Given the description of an element on the screen output the (x, y) to click on. 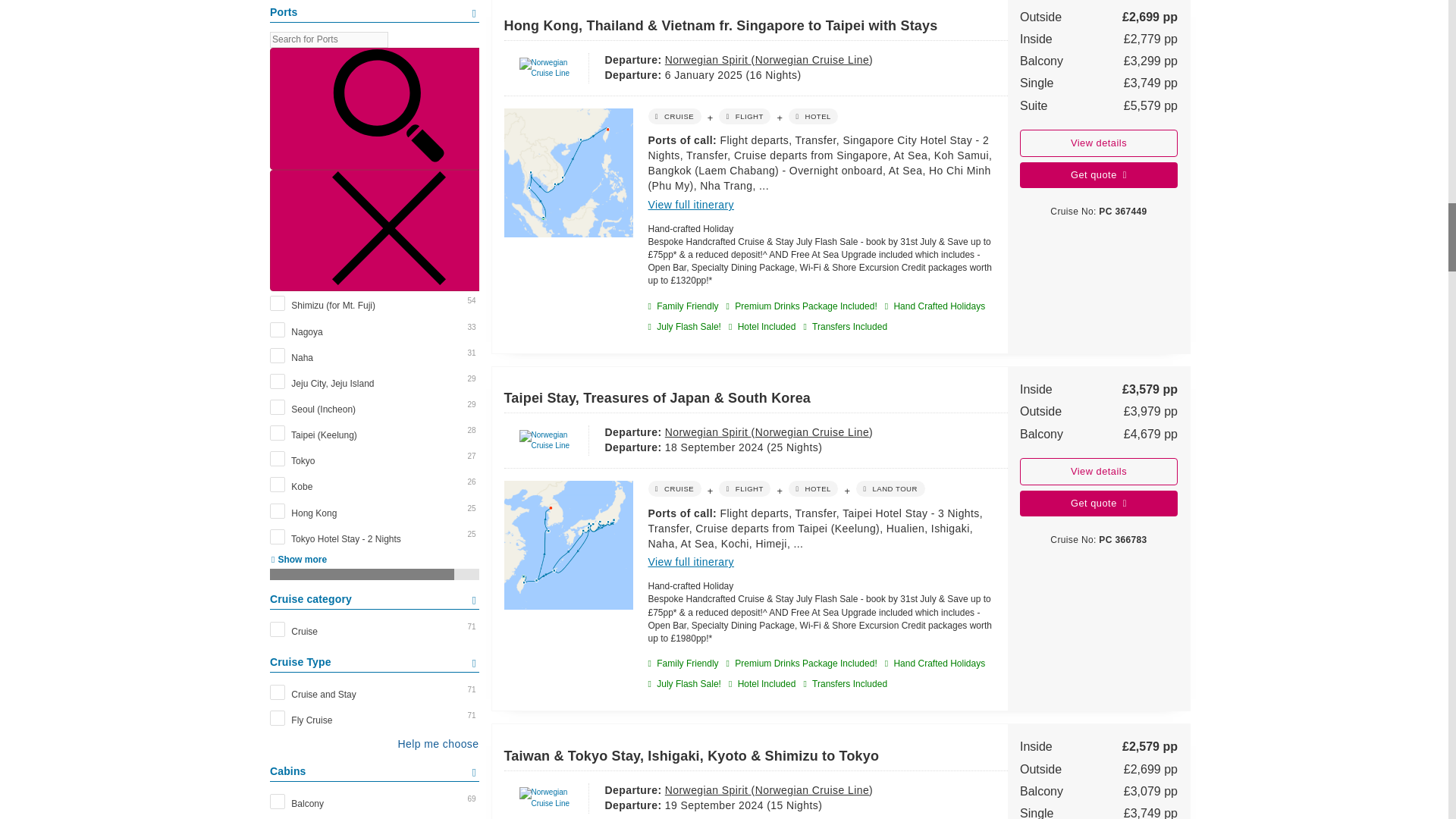
Show more (297, 559)
Clear the search query. (388, 230)
Help me choose (374, 743)
Submit your search query. (388, 108)
